Given the description of an element on the screen output the (x, y) to click on. 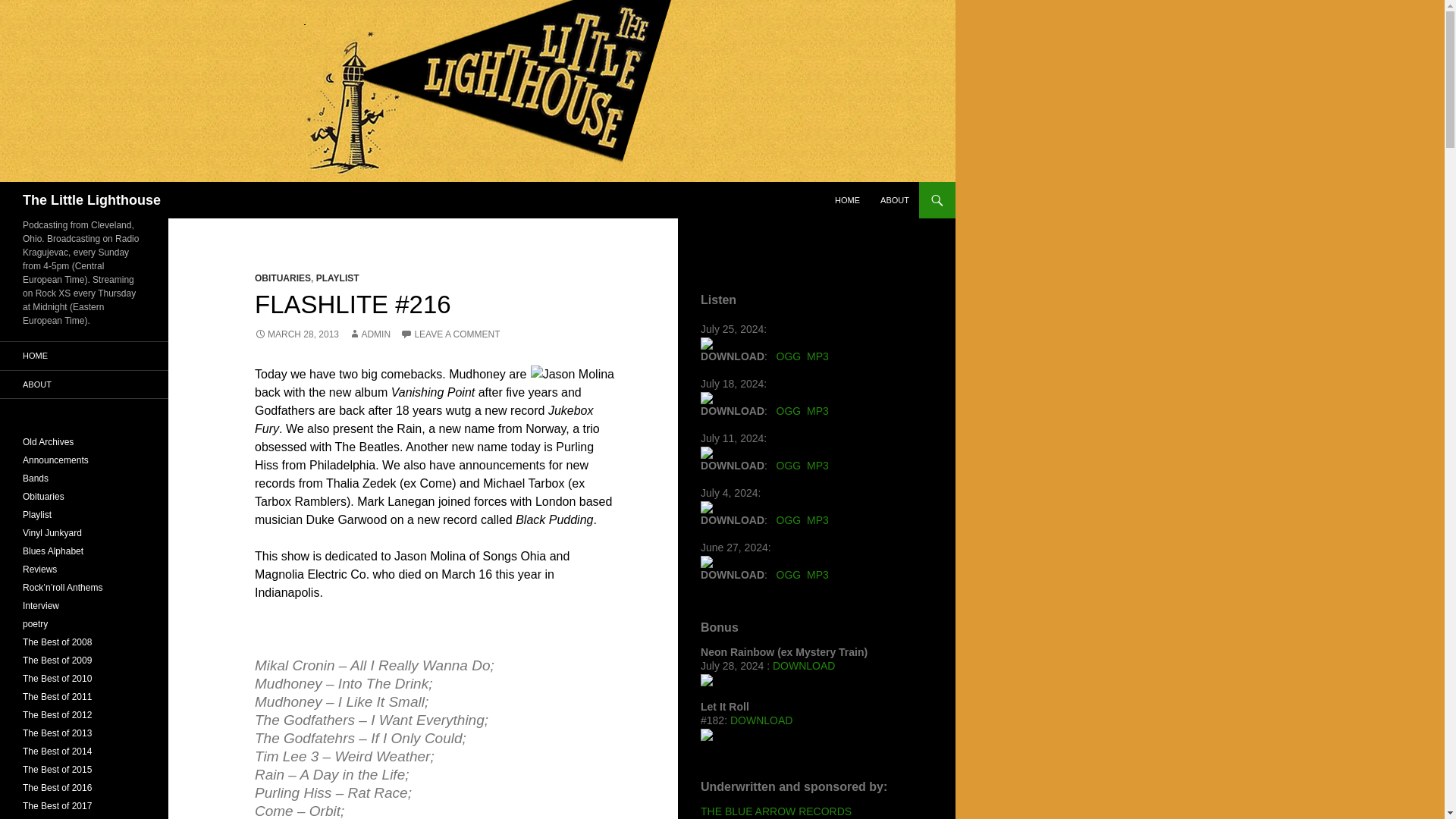
MP3 (817, 465)
OGG (789, 356)
The Little Lighthouse (91, 199)
ADMIN (369, 334)
OGG (789, 410)
ABOUT (894, 199)
MP3 (817, 410)
MARCH 28, 2013 (296, 334)
PLAYLIST (337, 277)
LEAVE A COMMENT (449, 334)
HOME (847, 199)
OBITUARIES (282, 277)
MP3 (817, 356)
OGG (789, 465)
